Given the description of an element on the screen output the (x, y) to click on. 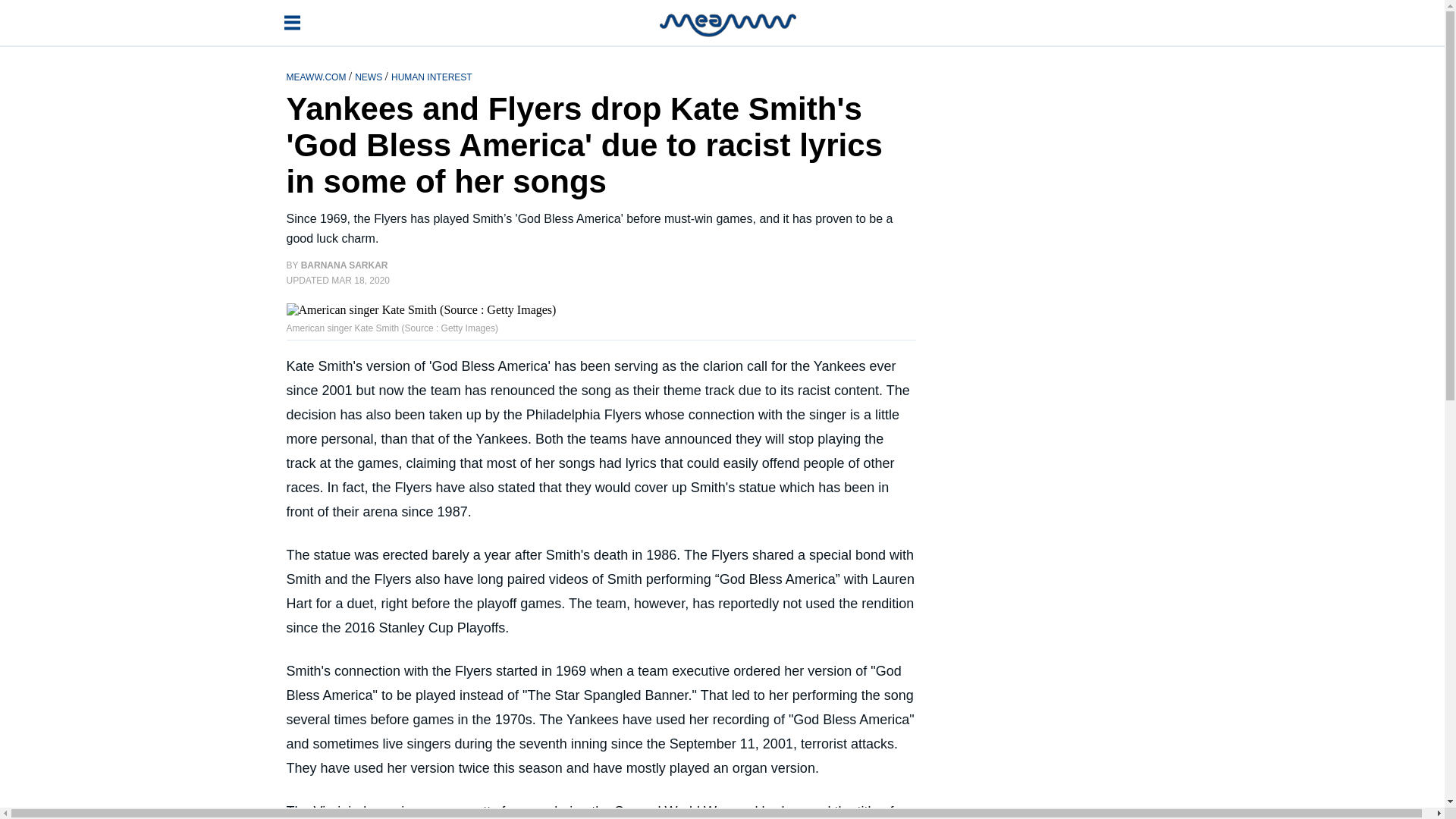
BARNANA SARKAR (344, 265)
HUMAN INTEREST (431, 75)
NEWS (369, 75)
MEAWW.COM (317, 75)
